Given the description of an element on the screen output the (x, y) to click on. 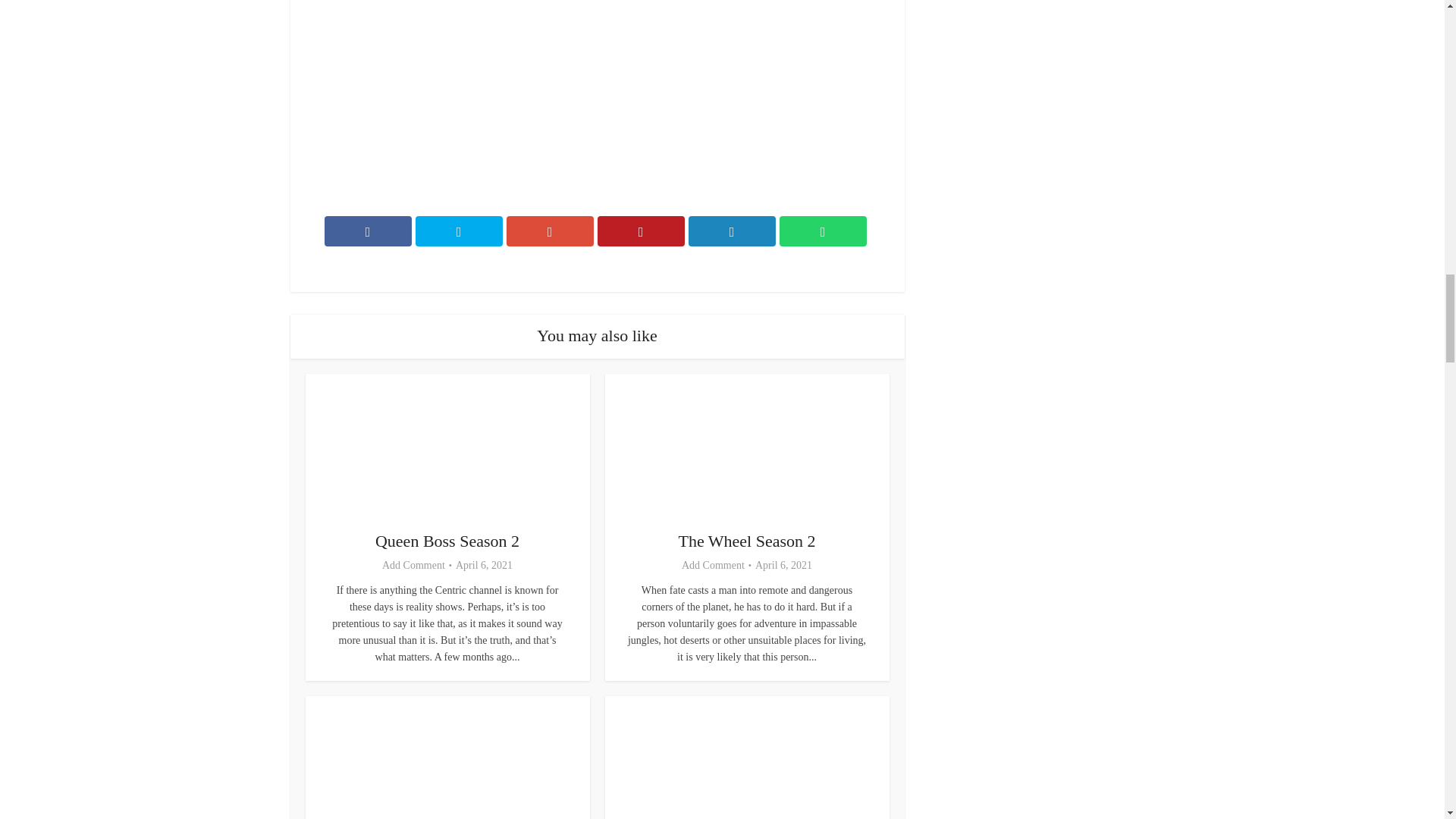
Queen Boss Season 2 (447, 540)
Add Comment (413, 565)
The Wheel Season 2 (746, 540)
Add Comment (712, 565)
Queen Boss Season 2 (447, 540)
The Wheel Season 2 (746, 540)
